Given the description of an element on the screen output the (x, y) to click on. 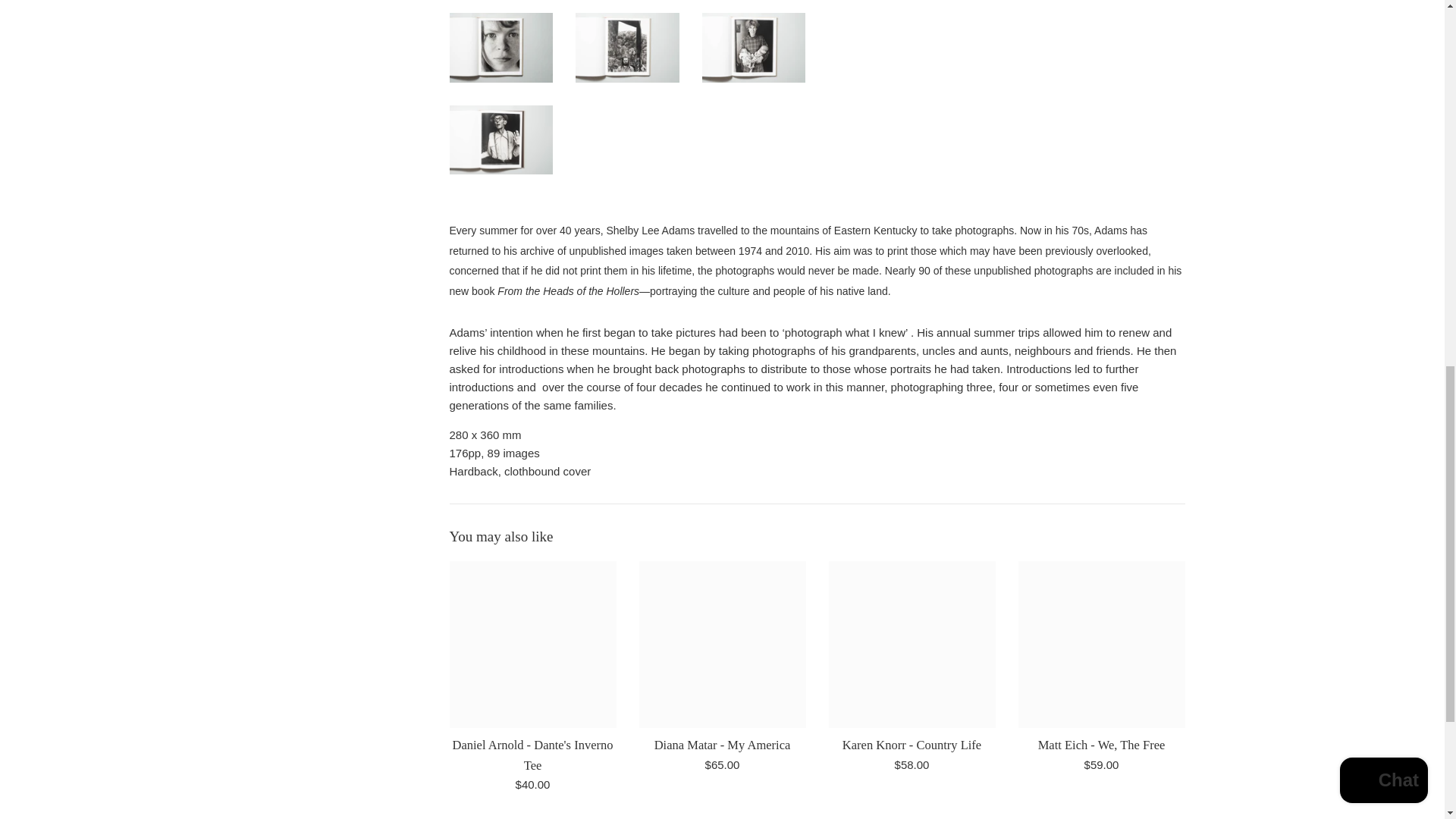
Matt Eich - We, The Free (1101, 644)
Daniel Arnold - Dante's Inverno Tee (531, 644)
Diana Matar - My America (722, 644)
Karen Knorr - Country Life (911, 644)
